Given the description of an element on the screen output the (x, y) to click on. 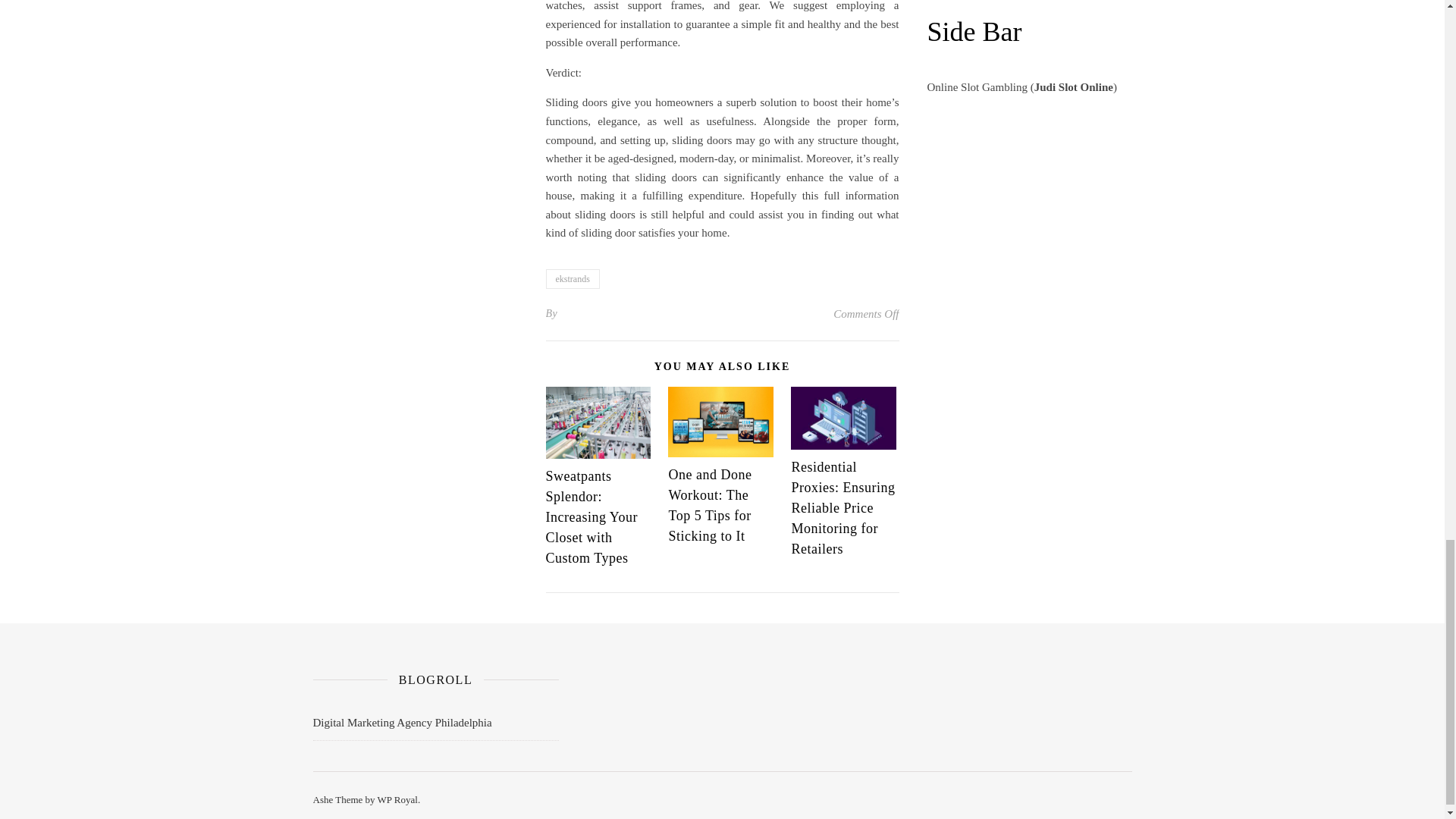
ekstrands (572, 279)
One and Done Workout: The Top 5 Tips for Sticking to It (709, 504)
